Given the description of an element on the screen output the (x, y) to click on. 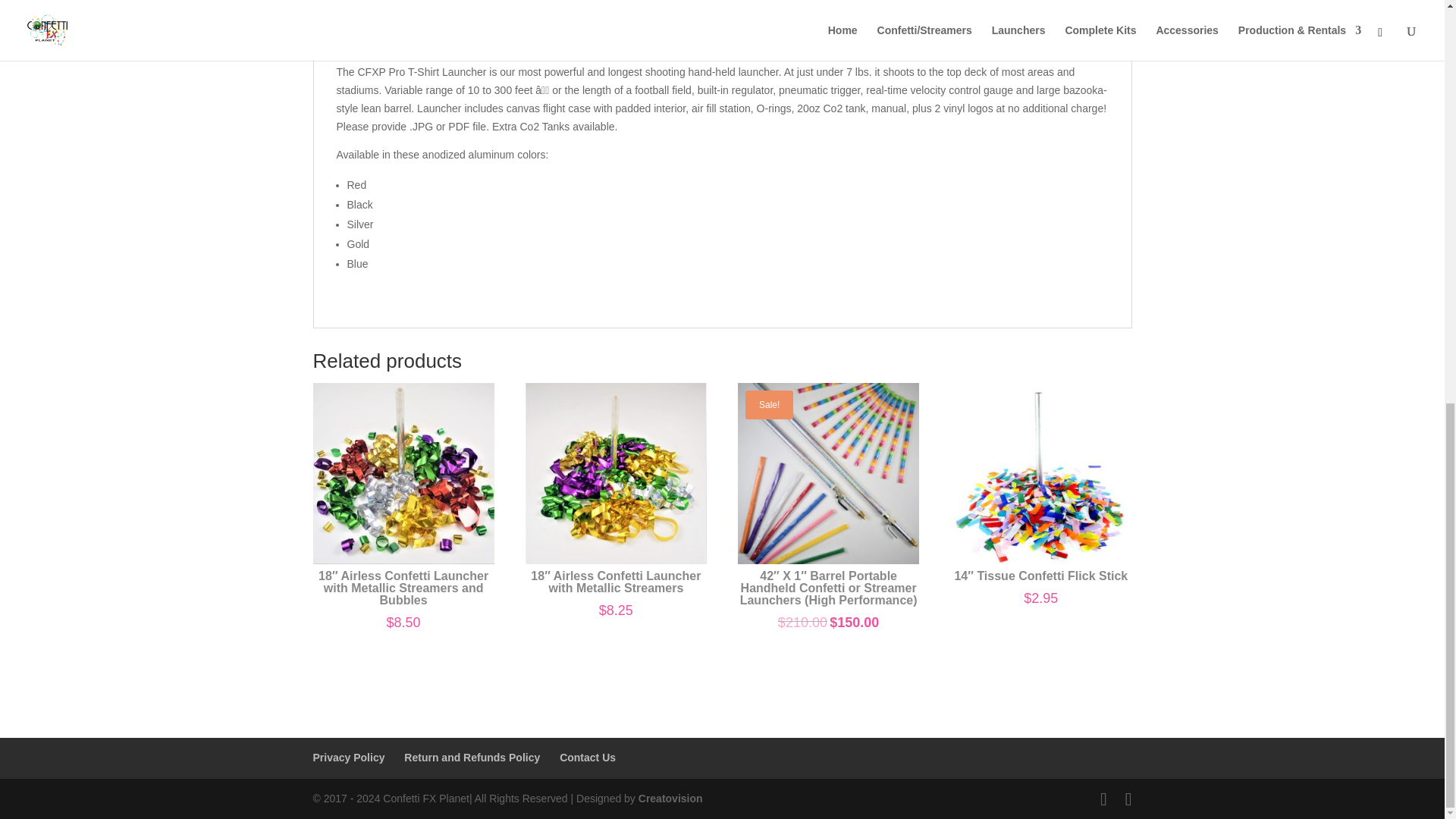
Additional information (497, 32)
Description (365, 32)
